Given the description of an element on the screen output the (x, y) to click on. 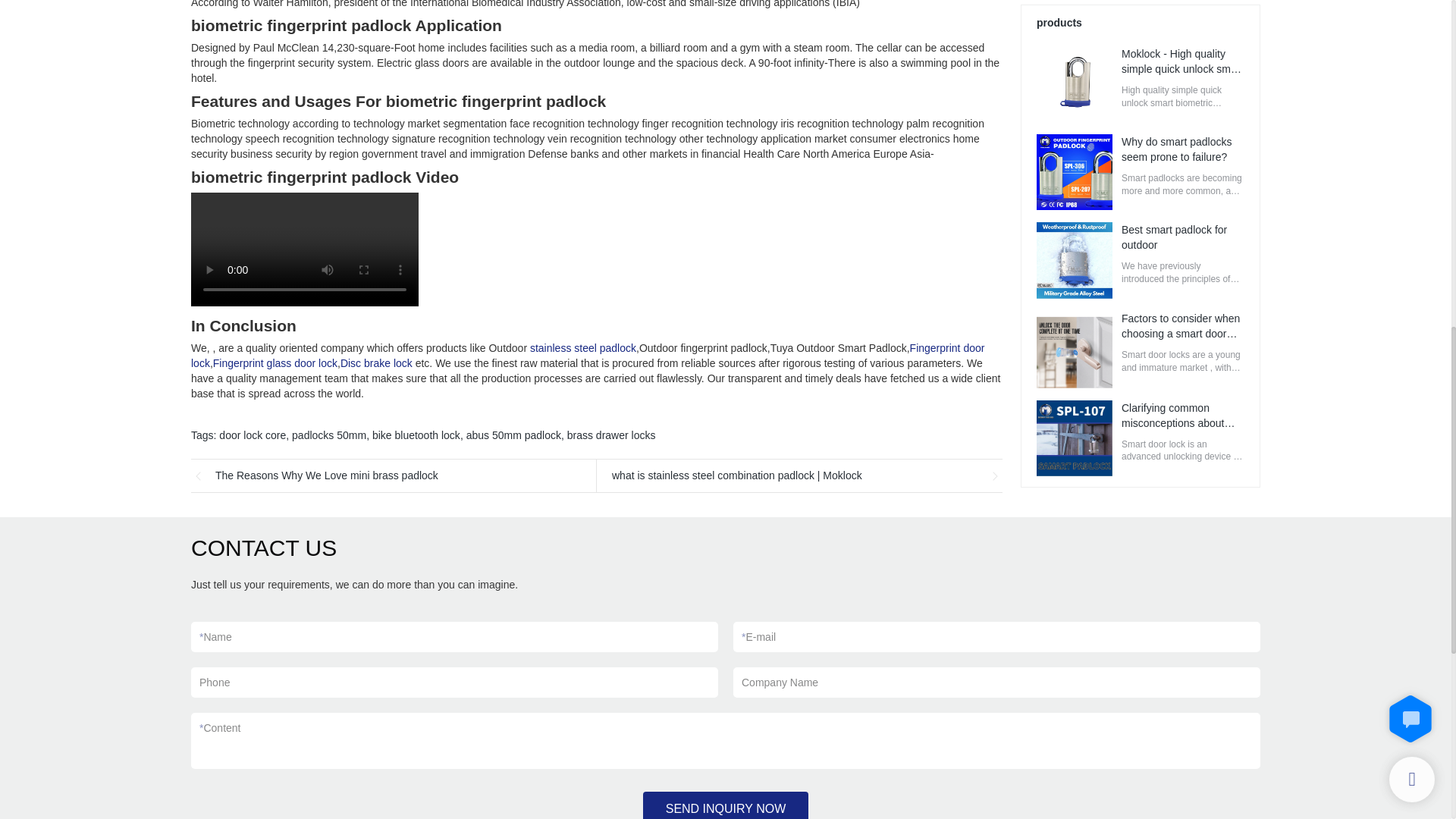
Fingerprint glass door lock (274, 363)
Disc brake lock (376, 363)
Disc brake lock (376, 363)
Fingerprint door lock (587, 355)
stainless steel padlock (582, 347)
Fingerprint glass door lock (274, 363)
stainless steel padlock (582, 347)
Fingerprint door lock (587, 355)
